Given the description of an element on the screen output the (x, y) to click on. 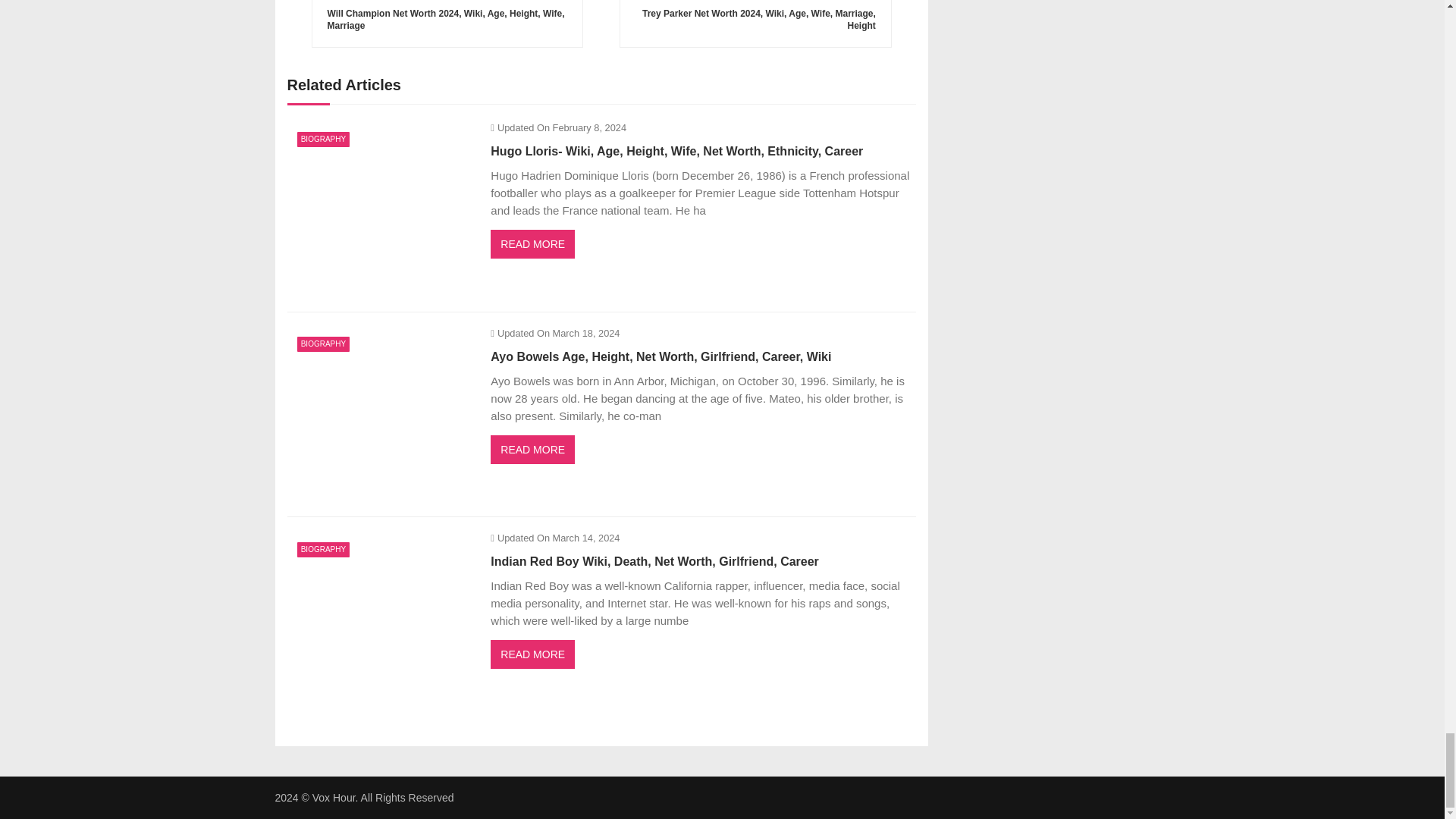
BIOGRAPHY (323, 139)
Indian Red Boy  Wiki,  Death, Net Worth, Girlfriend, Career (381, 619)
Ayo Bowels Age, Height, Net Worth, Girlfriend, Career, Wiki (381, 414)
